Given the description of an element on the screen output the (x, y) to click on. 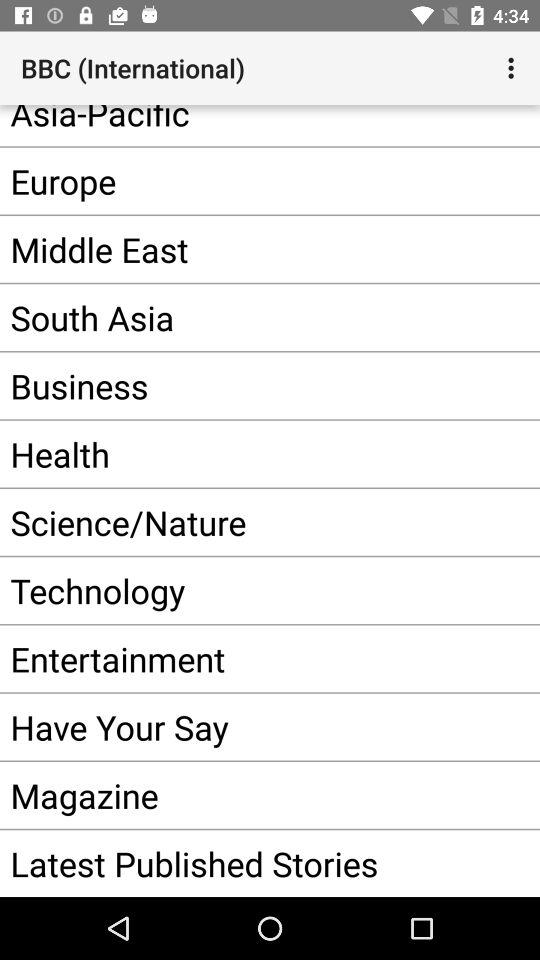
swipe until entertainment (249, 658)
